Given the description of an element on the screen output the (x, y) to click on. 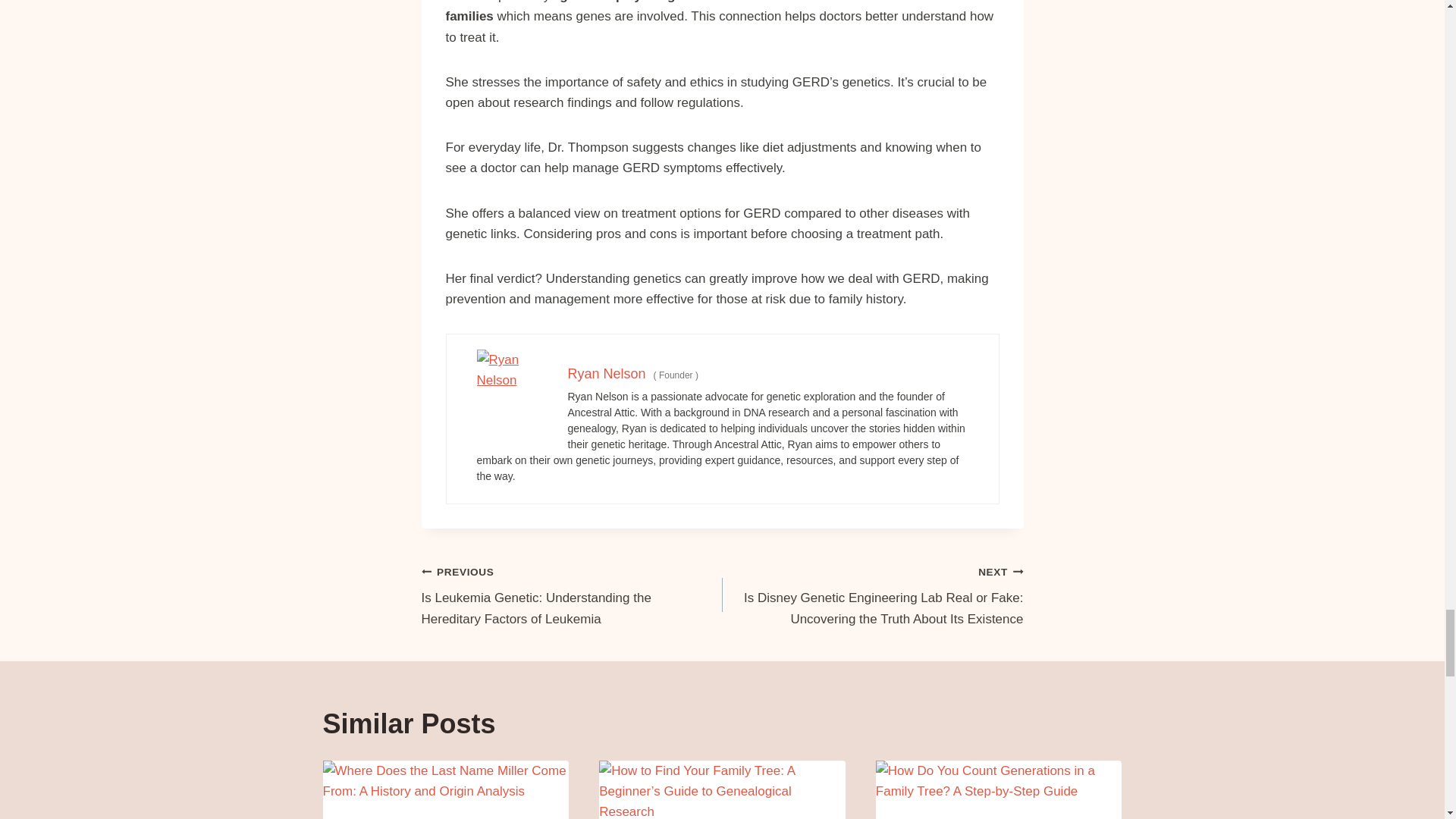
Ryan Nelson (606, 373)
